Given the description of an element on the screen output the (x, y) to click on. 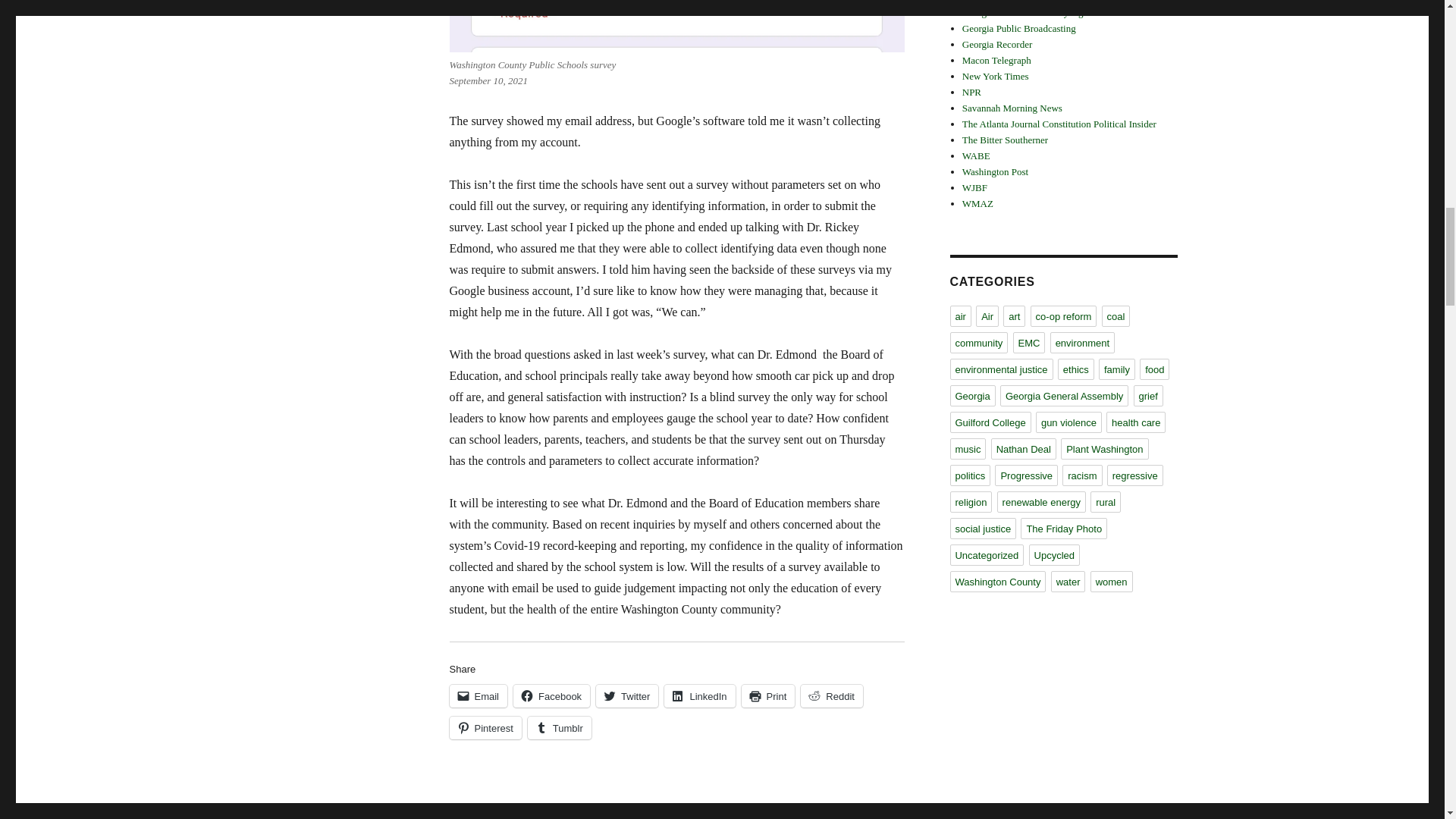
Click to email a link to a friend (477, 695)
Click to share on Tumblr (559, 727)
Pinterest (484, 727)
Click to share on LinkedIn (699, 695)
Click to share on Pinterest (484, 727)
Email (477, 695)
Click to print (767, 695)
LinkedIn (699, 695)
Click to share on Reddit (831, 695)
Reddit (831, 695)
Tumblr (559, 727)
Print (767, 695)
Facebook (551, 695)
Click to share on Twitter (626, 695)
Click to share on Facebook (551, 695)
